Given the description of an element on the screen output the (x, y) to click on. 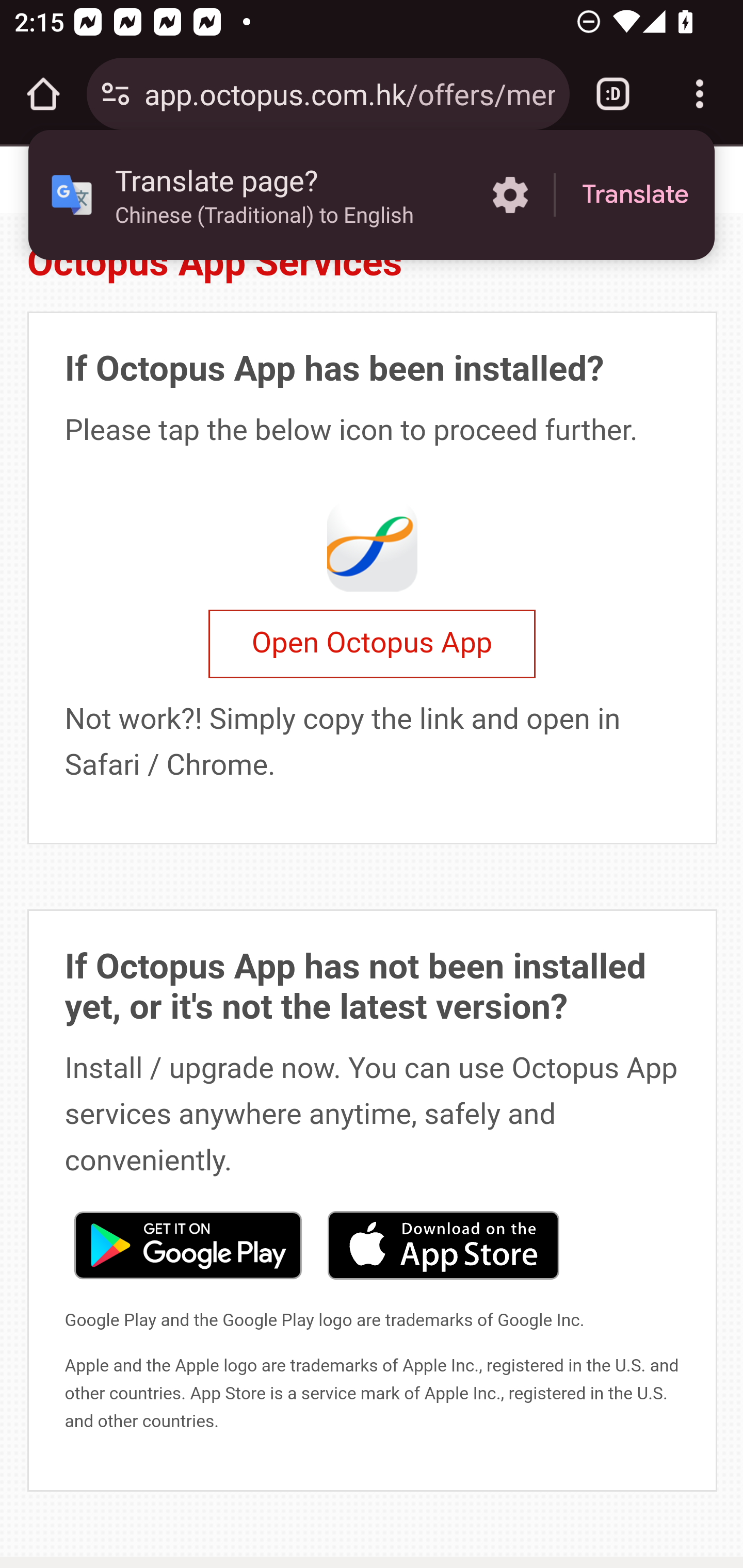
Open the home page (43, 93)
Connection is secure (115, 93)
Switch or close tabs (612, 93)
Customize and control Google Chrome (699, 93)
Translate (634, 195)
More options in the Translate page? (509, 195)
www.octopus.com (123, 180)
Open Octopus App (371, 643)
Get it on Google Play (187, 1243)
Download on the App Store (443, 1243)
